Given the description of an element on the screen output the (x, y) to click on. 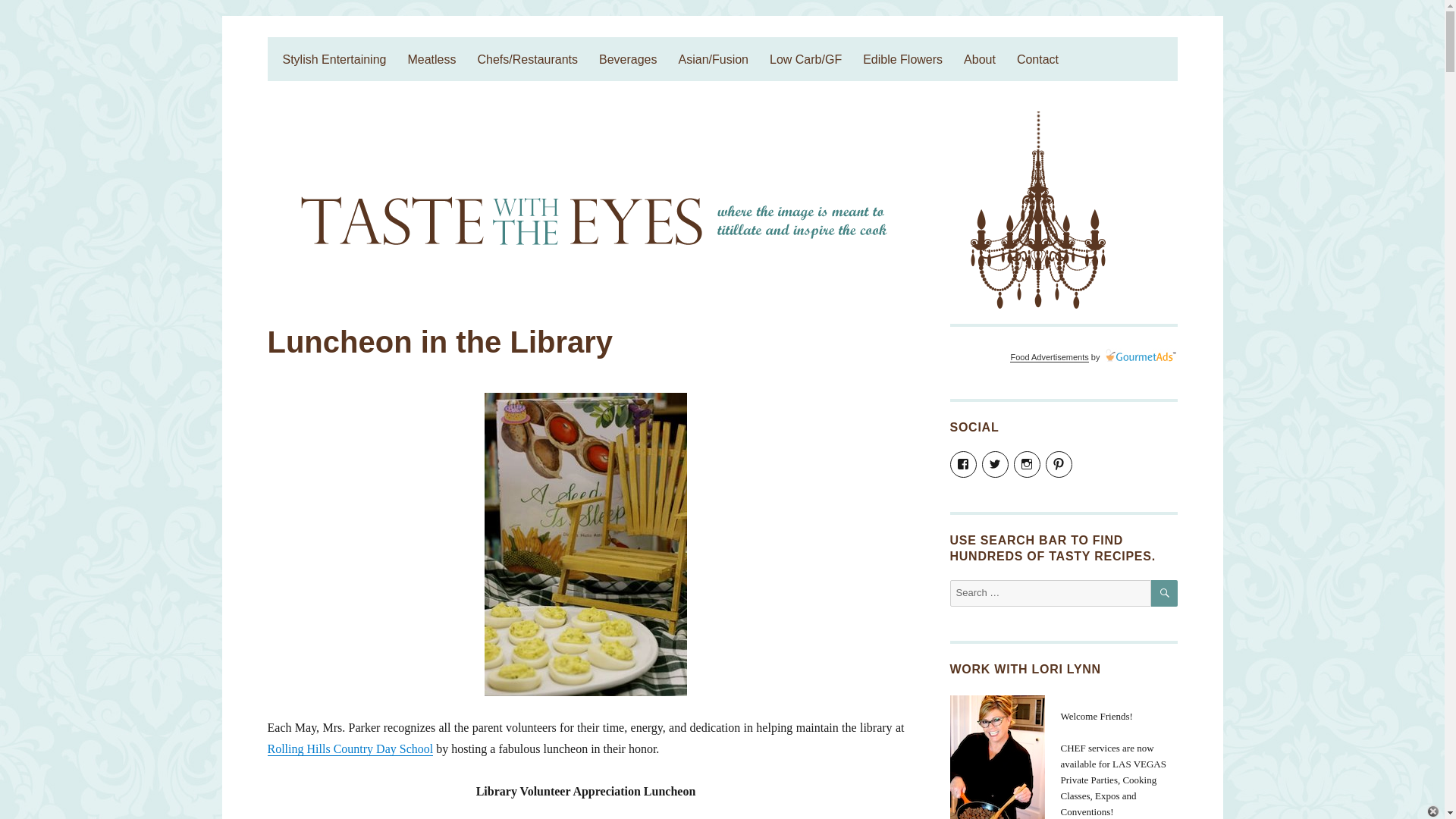
Taste With The Eyes (368, 50)
Stylish Entertaining (333, 59)
Meatless (430, 59)
Rolling Hills Country Day School (349, 748)
Food Advertisements (1048, 356)
About (979, 59)
Edible Flowers (902, 59)
Beverages (628, 59)
Contact (1037, 59)
